Given the description of an element on the screen output the (x, y) to click on. 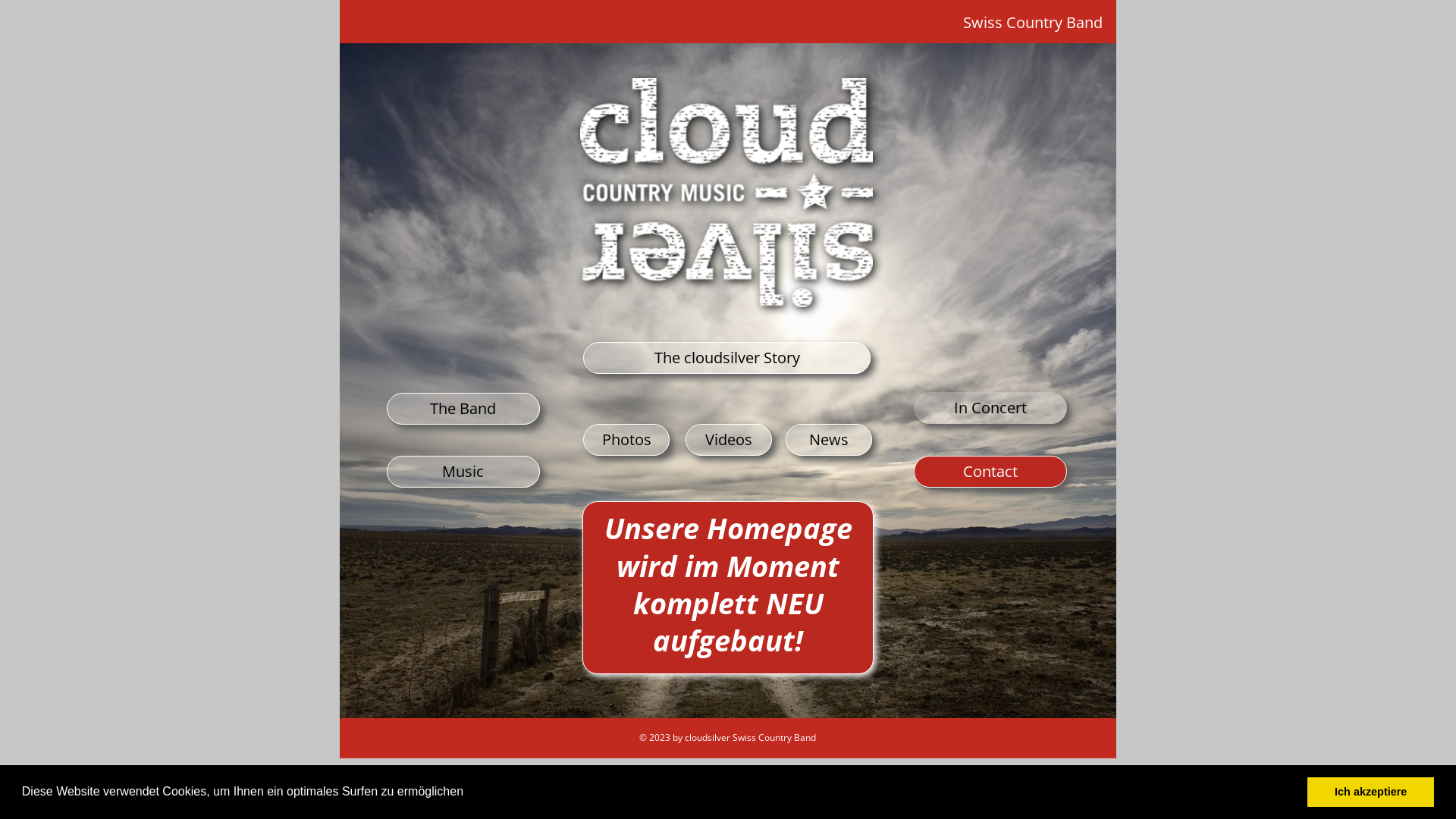
Ich akzeptiere Element type: text (1370, 791)
